Given the description of an element on the screen output the (x, y) to click on. 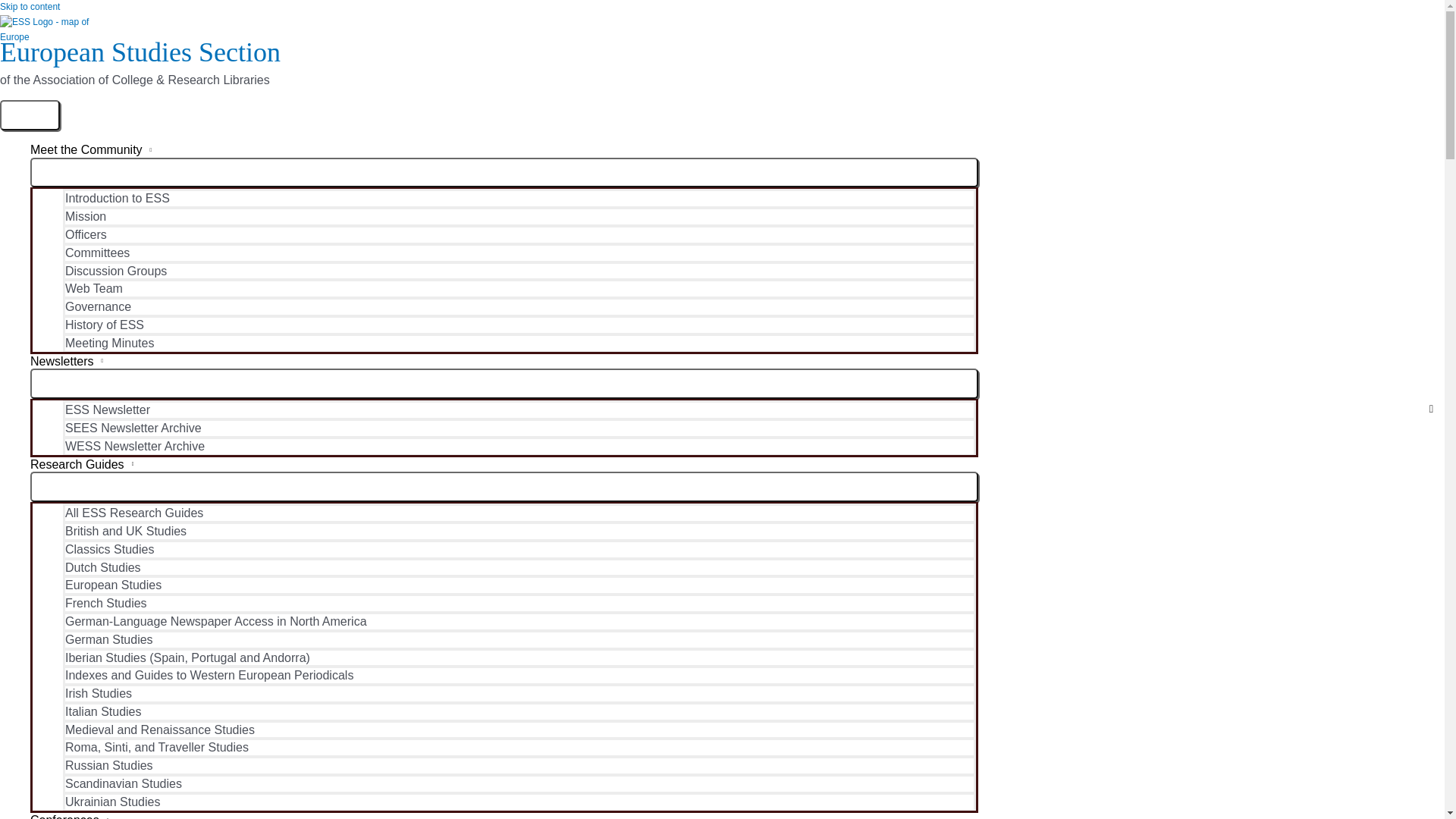
All ESS Research Guides (518, 512)
European Studies (518, 584)
Meeting Minutes (518, 342)
Scandinavian Studies (518, 782)
European Studies Section (140, 51)
Governance (518, 306)
Meet the Community (504, 150)
German-Language Newspaper Access in North America (518, 620)
Main Menu (29, 114)
ESS Newsletter (518, 409)
Indexes and Guides to Western European Periodicals (518, 674)
British and UK Studies (518, 530)
Newsletters (504, 361)
Dutch Studies (518, 566)
